Given the description of an element on the screen output the (x, y) to click on. 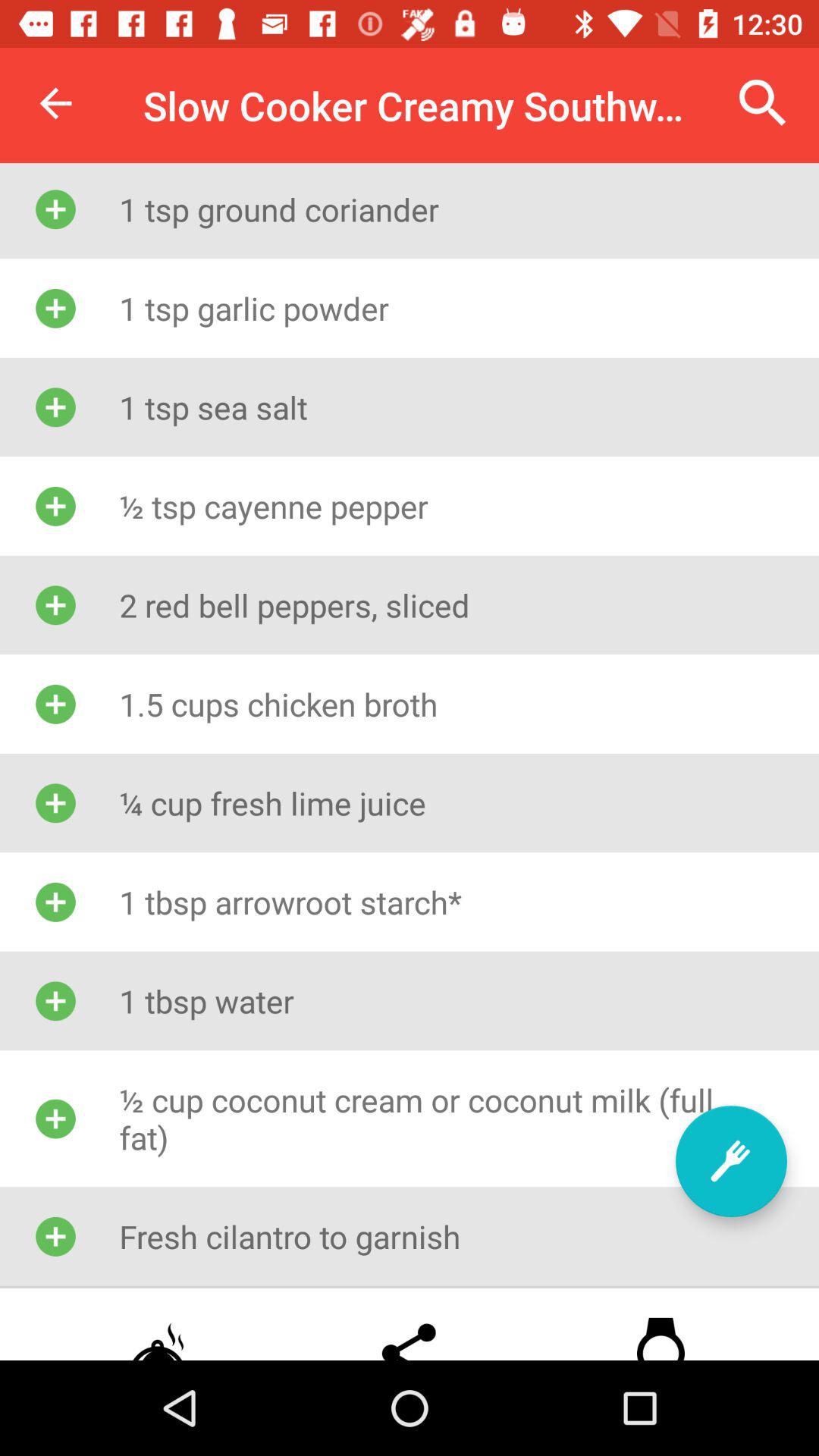
additional recipes (731, 1161)
